Given the description of an element on the screen output the (x, y) to click on. 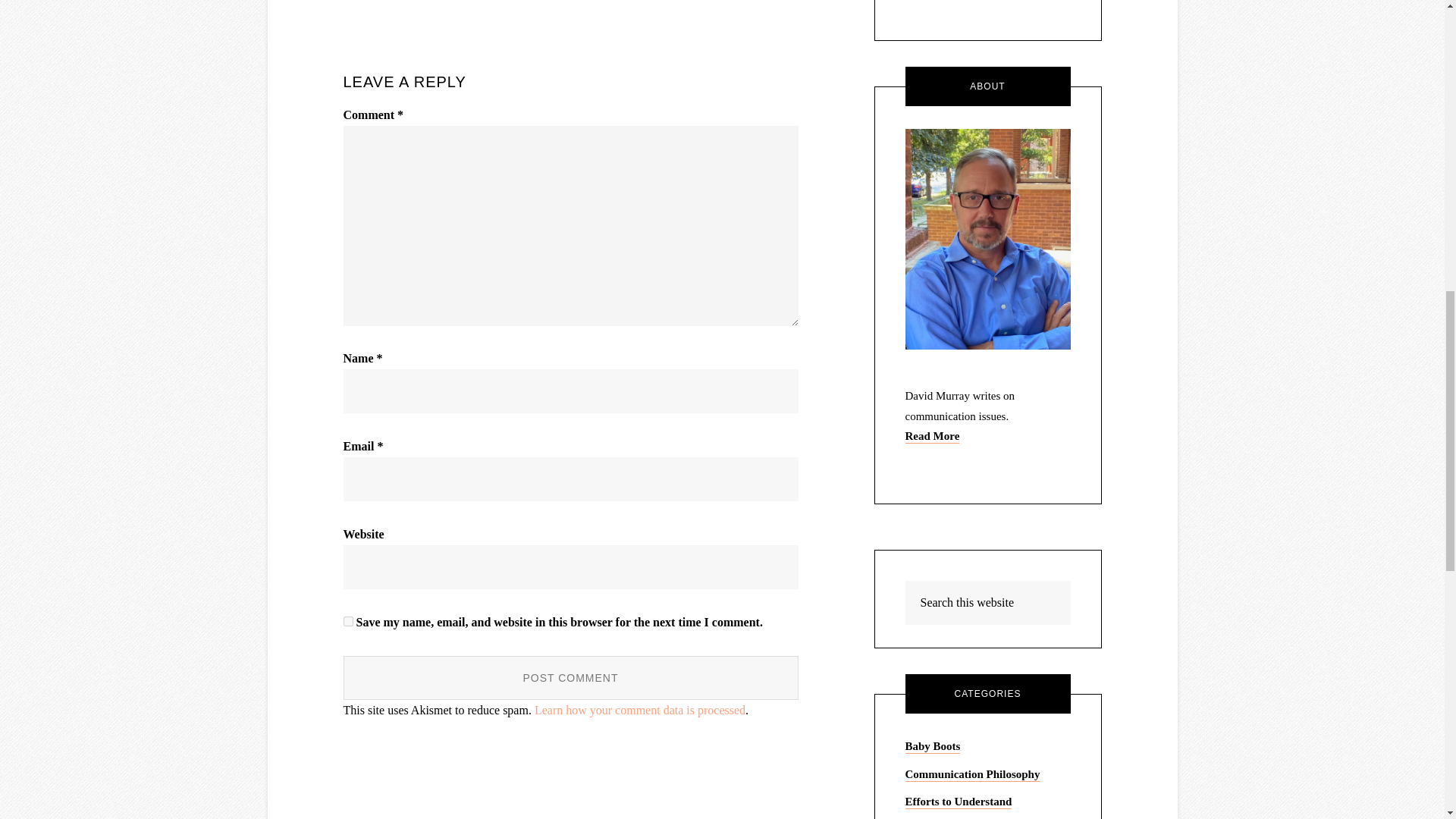
Post Comment (569, 678)
Read More (932, 436)
Efforts to Understand (958, 802)
Post Comment (569, 678)
Communication Philosophy (973, 775)
yes (347, 621)
Baby Boots (932, 746)
Learn how your comment data is processed (639, 709)
